Given the description of an element on the screen output the (x, y) to click on. 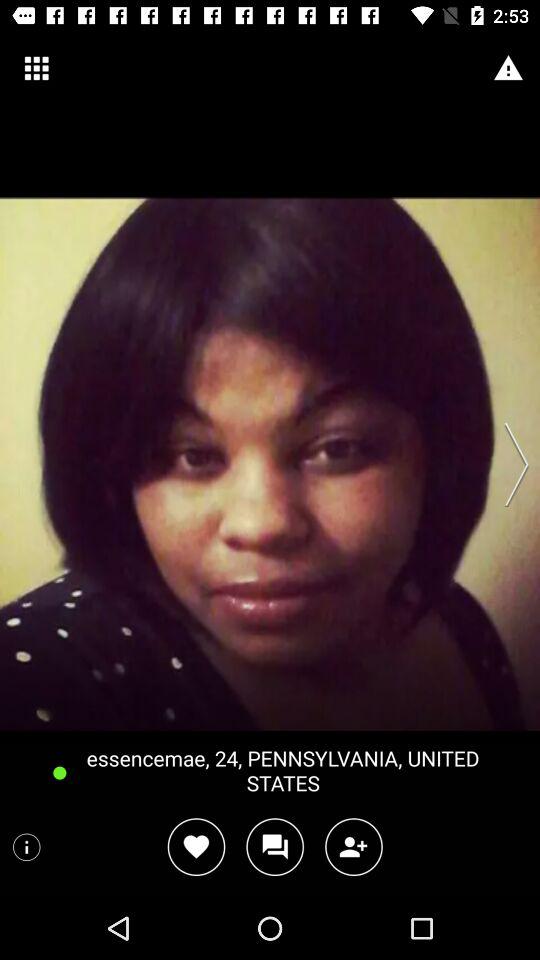
press icon at the top left corner (36, 68)
